Given the description of an element on the screen output the (x, y) to click on. 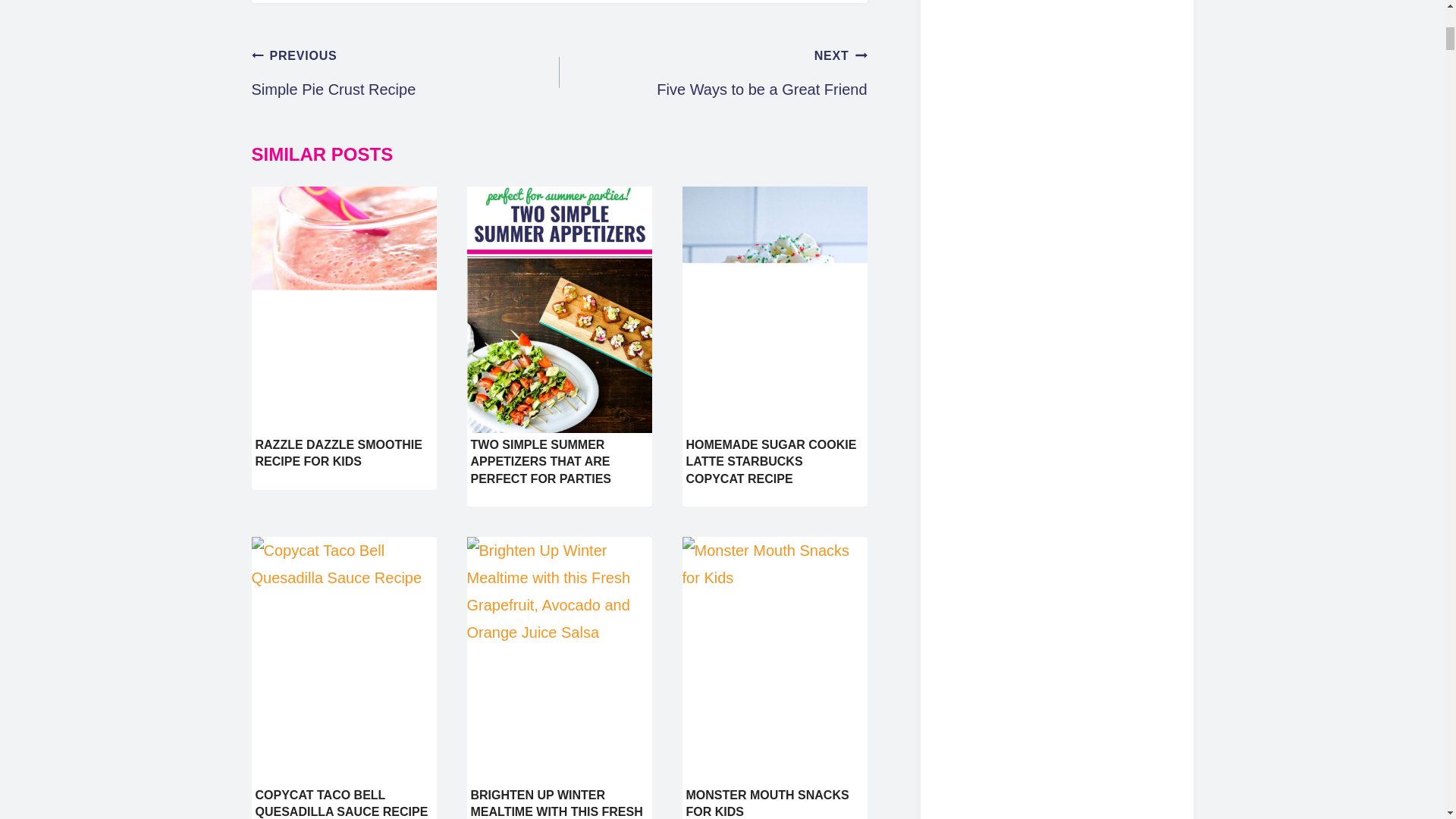
RAZZLE DAZZLE SMOOTHIE RECIPE FOR KIDS (713, 71)
